Given the description of an element on the screen output the (x, y) to click on. 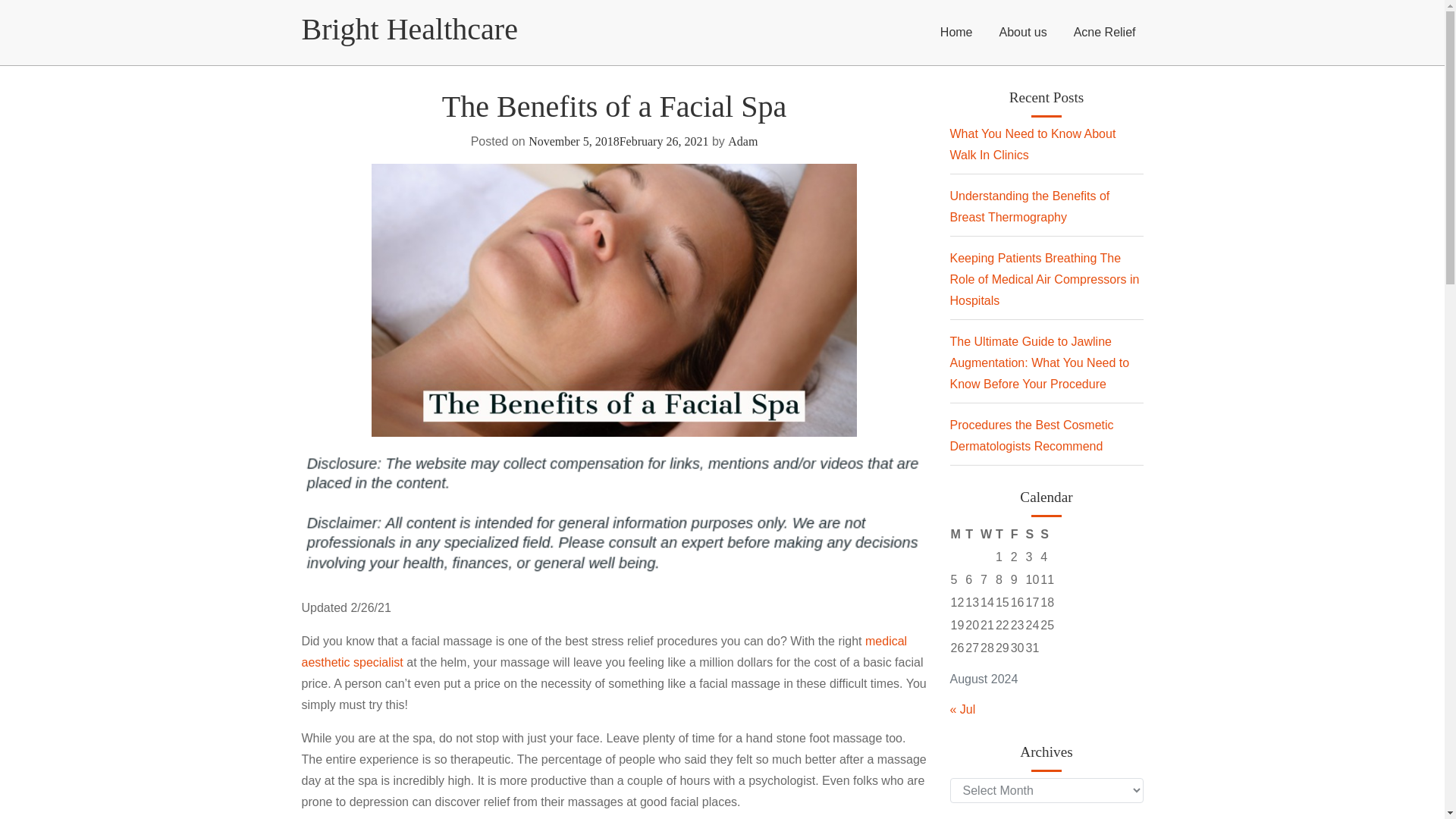
What You Need to Know About Walk In Clinics (1032, 144)
Understanding the Benefits of Breast Thermography (1029, 206)
medical aesthetic specialist (604, 651)
About us (1022, 32)
Bright Healthcare (409, 28)
Procedures the Best Cosmetic Dermatologists Recommend (1031, 435)
Acne Relief (1103, 32)
Adam (742, 141)
